Given the description of an element on the screen output the (x, y) to click on. 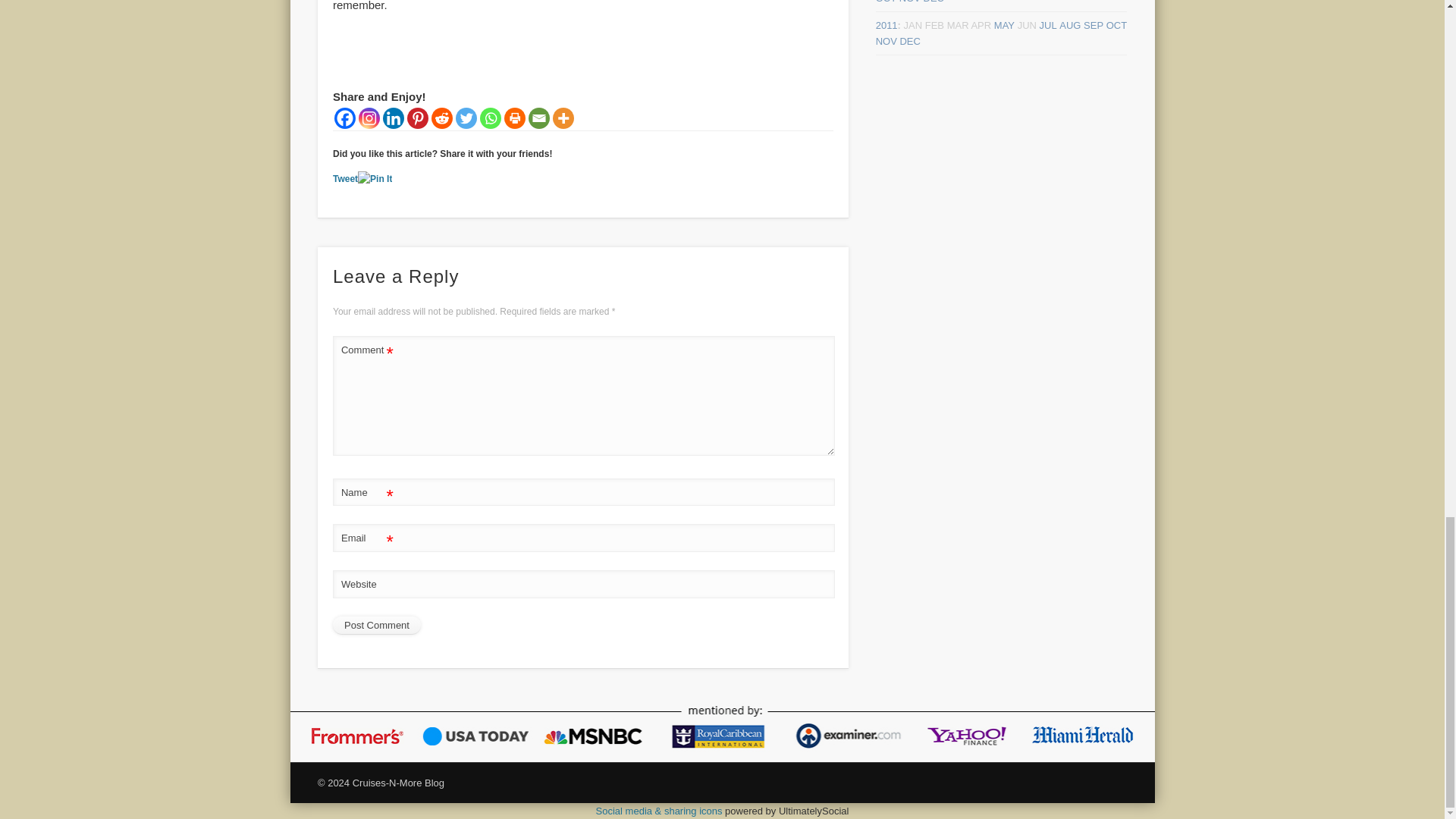
Facebook (344, 117)
Post Comment (376, 625)
Instagram (369, 117)
Tweet (345, 178)
